Given the description of an element on the screen output the (x, y) to click on. 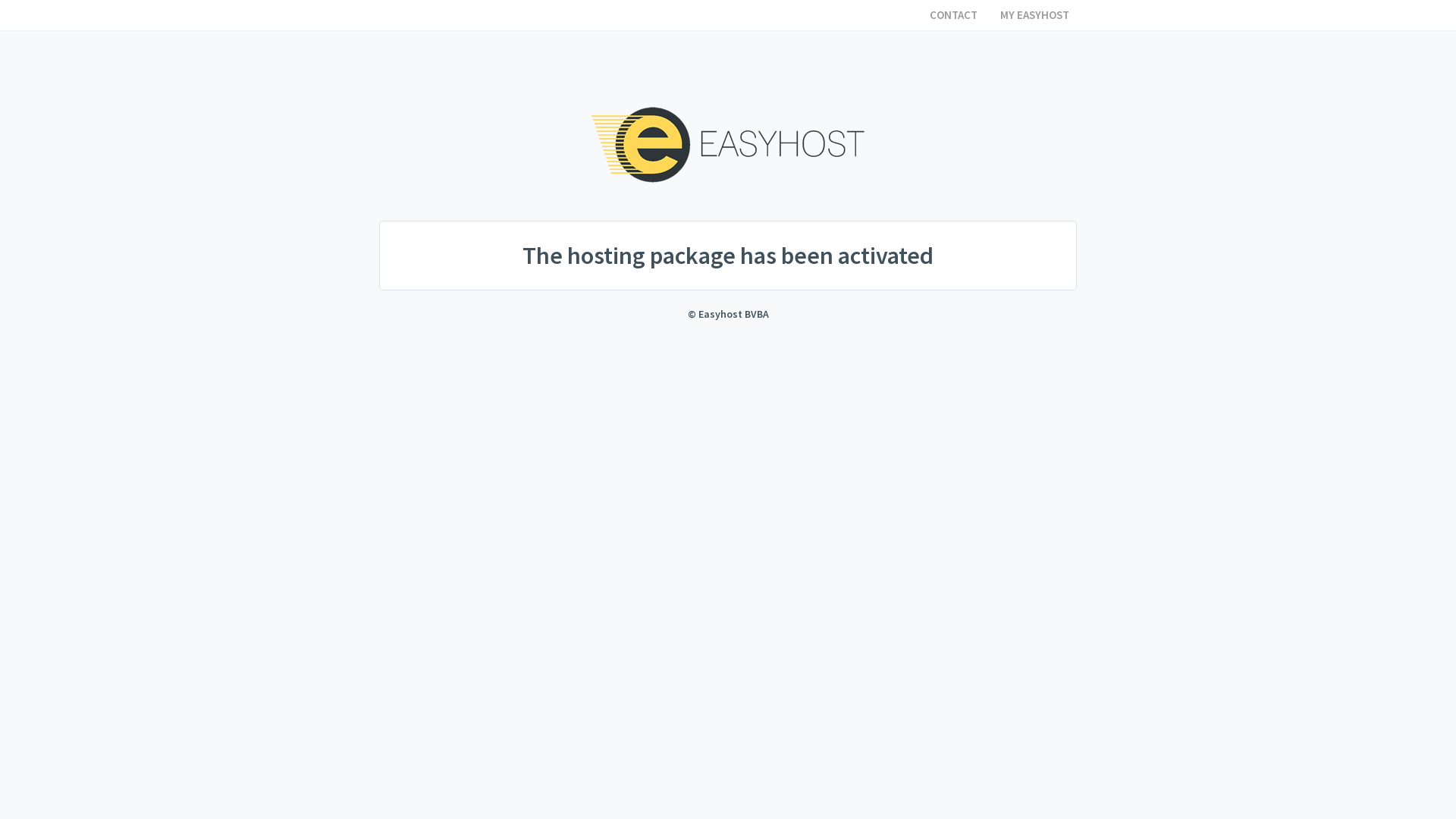
Easyhost Element type: text (727, 144)
CONTACT Element type: text (953, 14)
MY EASYHOST Element type: text (1034, 14)
